Given the description of an element on the screen output the (x, y) to click on. 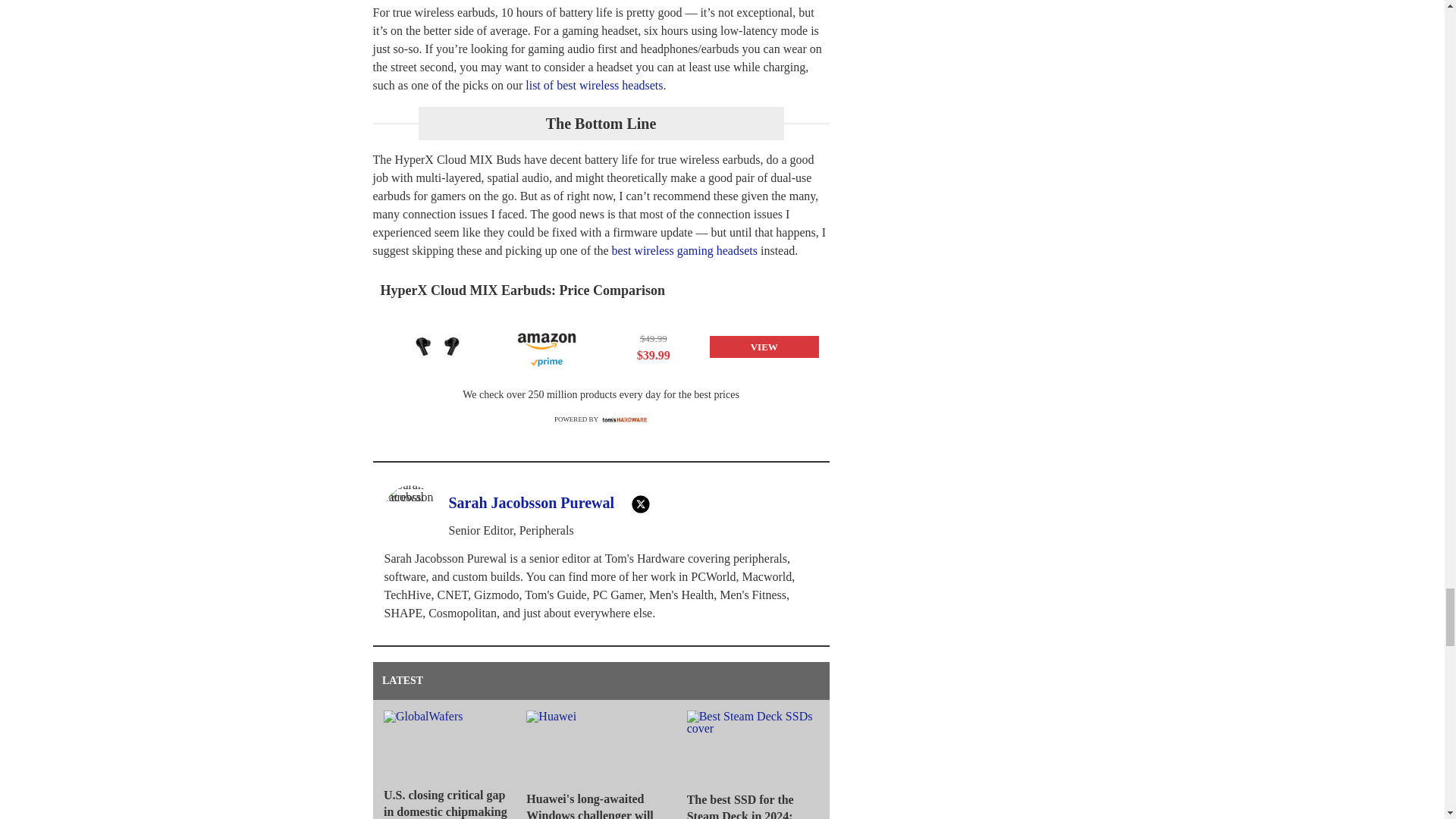
Amazon (546, 338)
Toms Hardware (624, 419)
Prime (546, 361)
HyperX Cloud MIX Buds - True... (437, 346)
